Given the description of an element on the screen output the (x, y) to click on. 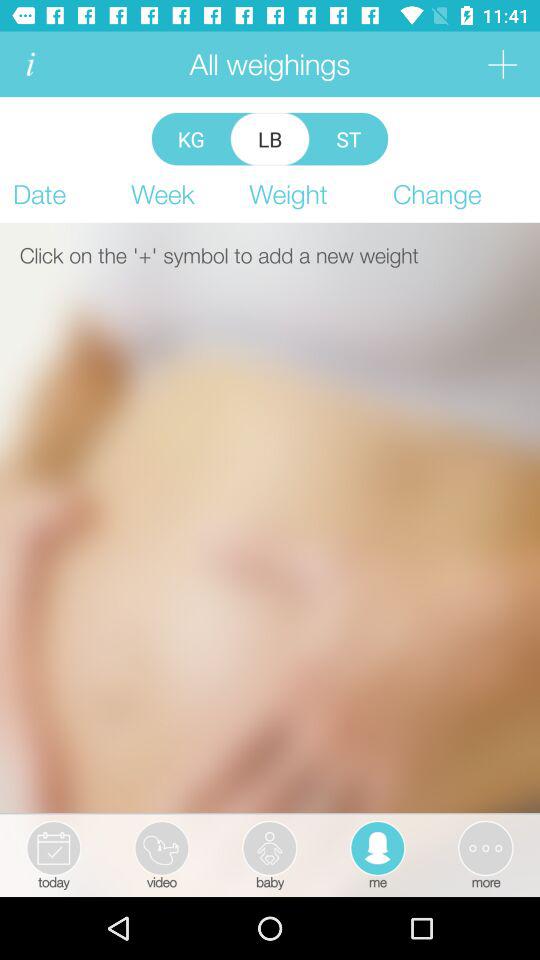
info button toggle info (30, 63)
